Given the description of an element on the screen output the (x, y) to click on. 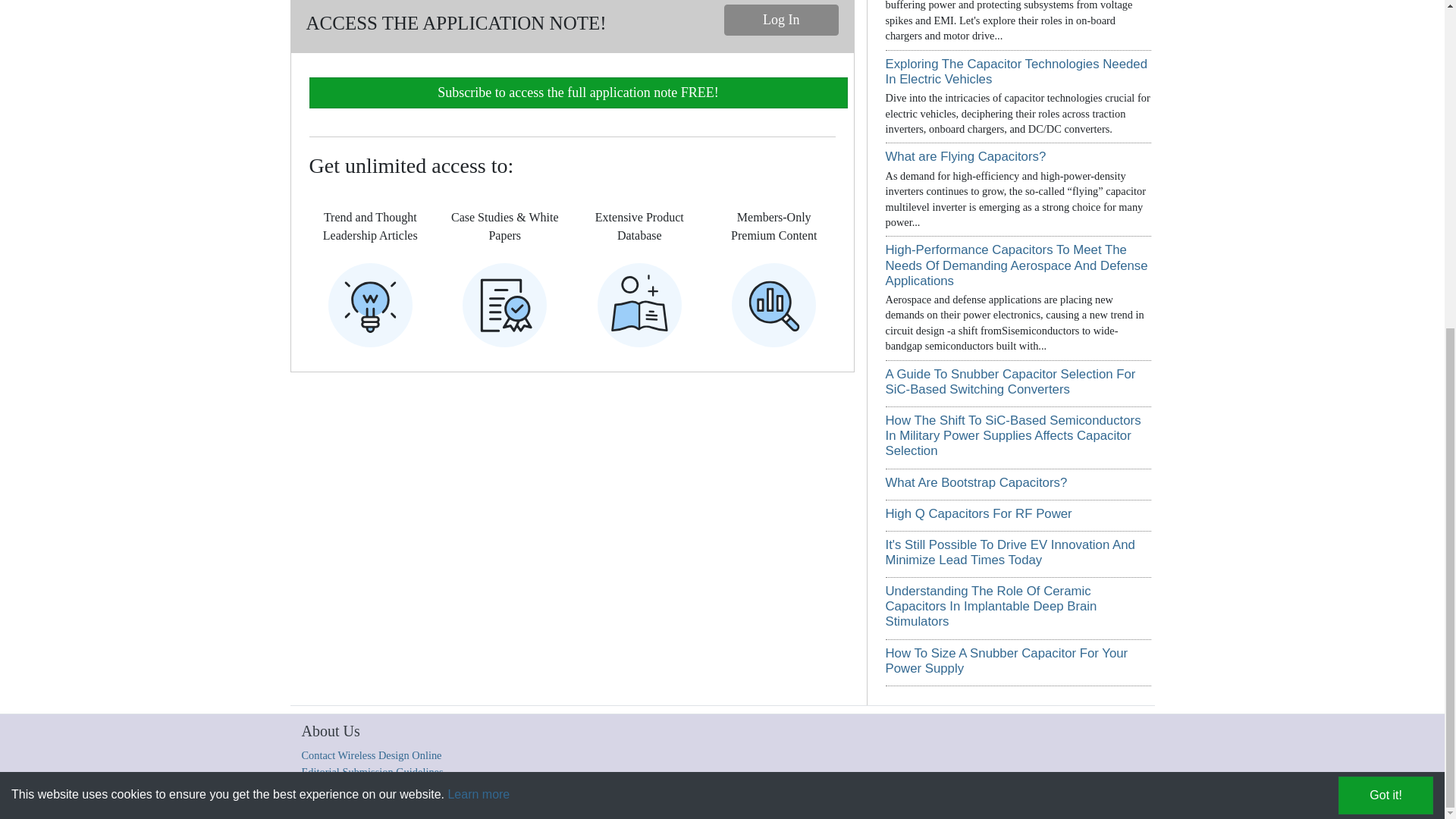
What are Flying Capacitors? (965, 156)
Subscribe to access the full application note FREE! (577, 92)
Log In (780, 20)
